Given the description of an element on the screen output the (x, y) to click on. 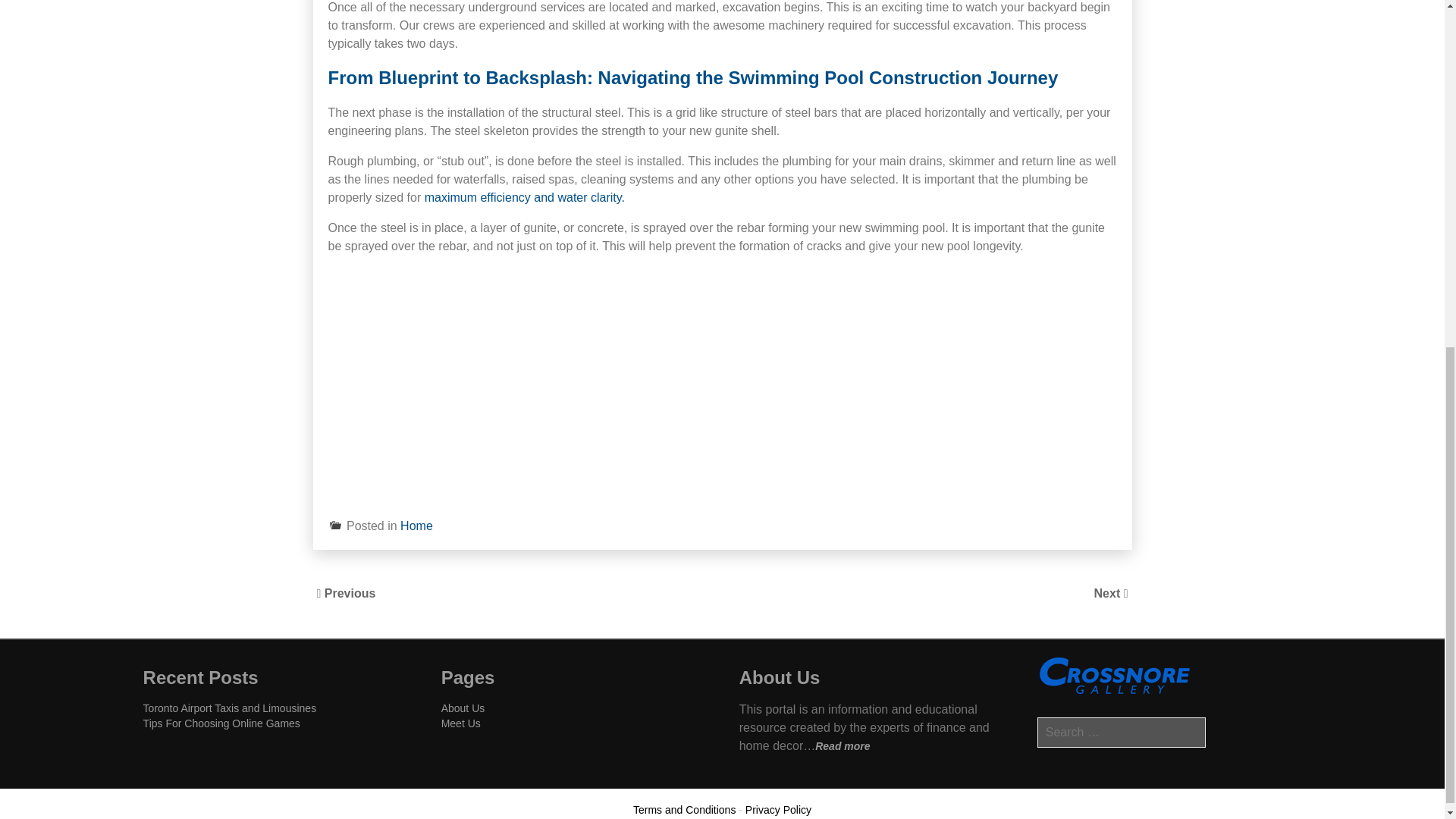
Home (416, 525)
maximum efficiency and water clarity. (524, 196)
Next (1109, 593)
Previous (349, 593)
